Given the description of an element on the screen output the (x, y) to click on. 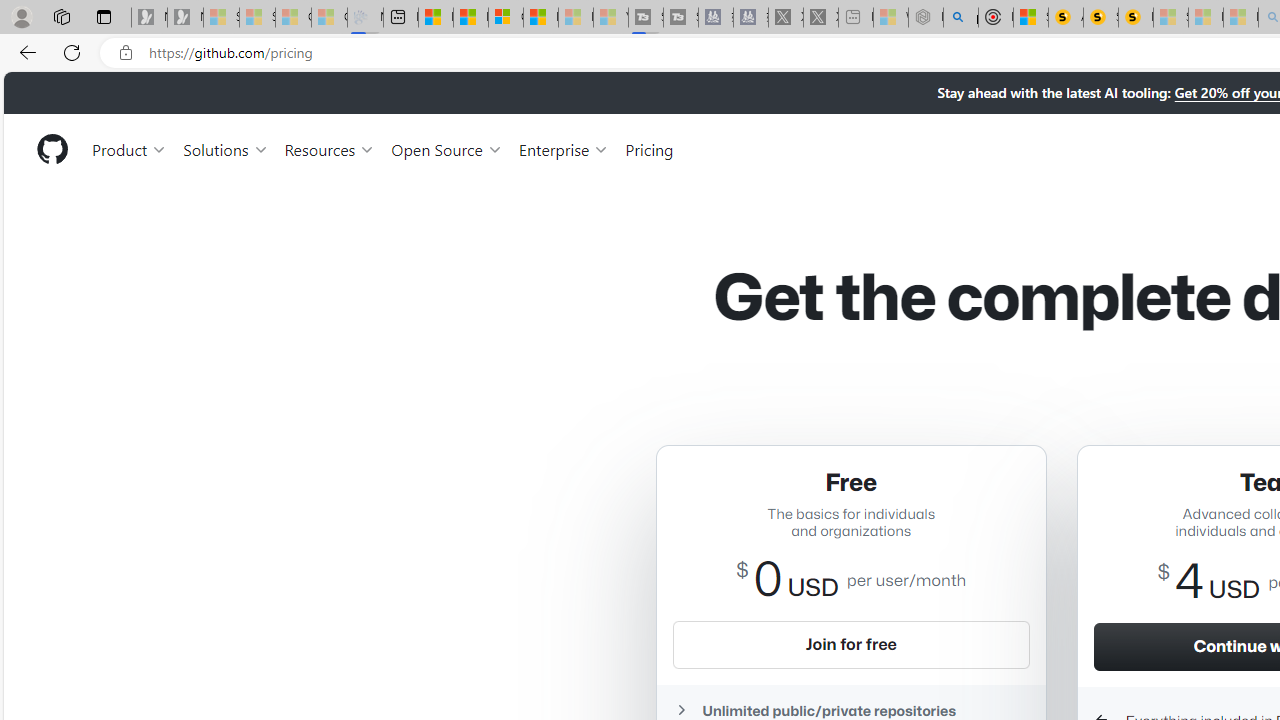
Homepage (51, 149)
Solutions (225, 148)
Solutions (225, 148)
Pricing (649, 148)
Nordace - Summer Adventures 2024 - Sleeping (925, 17)
Michelle Starr, Senior Journalist at ScienceAlert (1135, 17)
Product (130, 148)
